Given the description of an element on the screen output the (x, y) to click on. 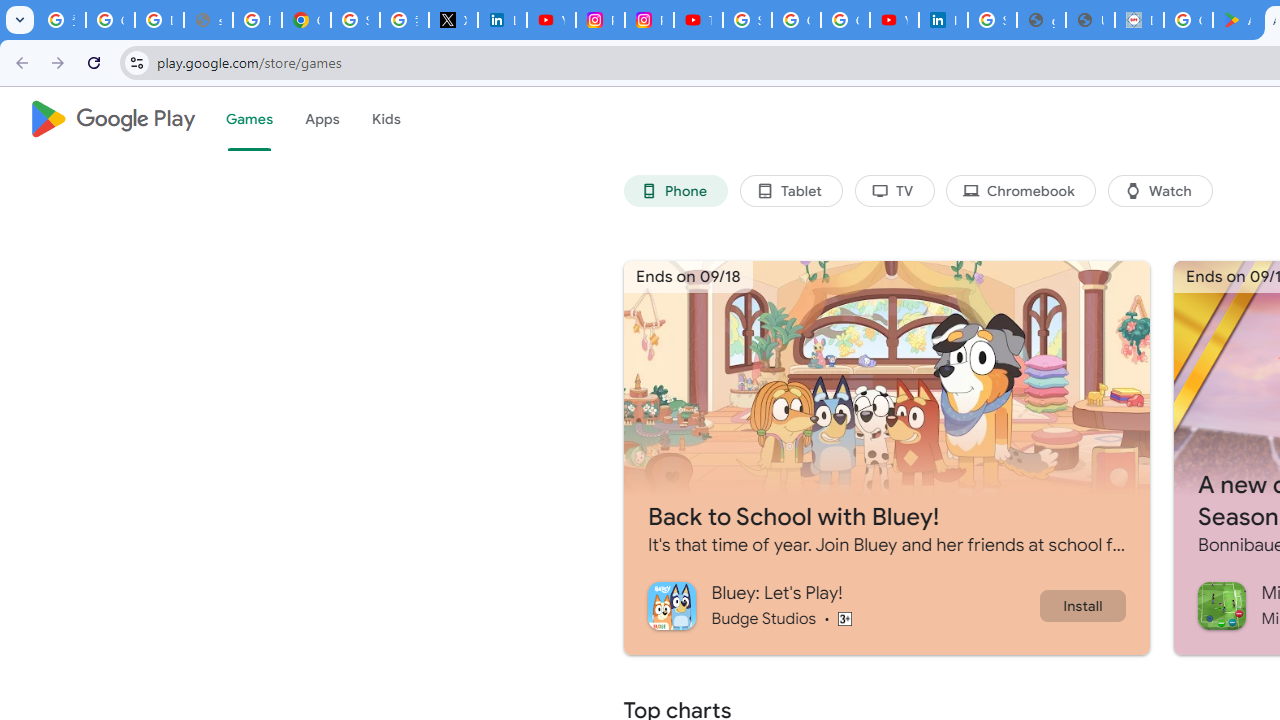
User Details (1090, 20)
Data Privacy Framework (1138, 20)
LinkedIn Privacy Policy (502, 20)
Watch (1160, 190)
Kids (385, 119)
TV (893, 190)
support.google.com - Network error (208, 20)
